Given the description of an element on the screen output the (x, y) to click on. 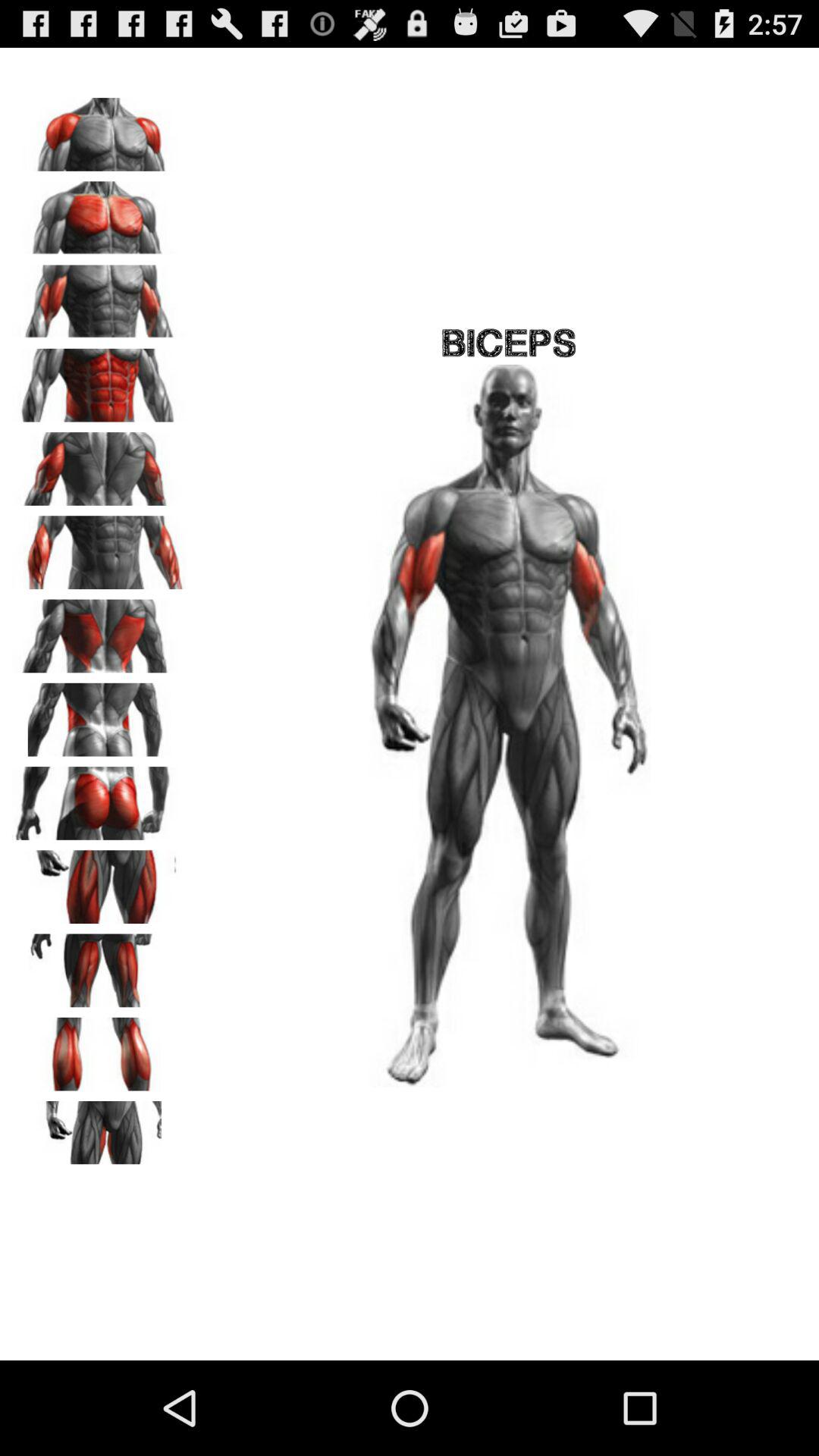
images list (99, 630)
